Given the description of an element on the screen output the (x, y) to click on. 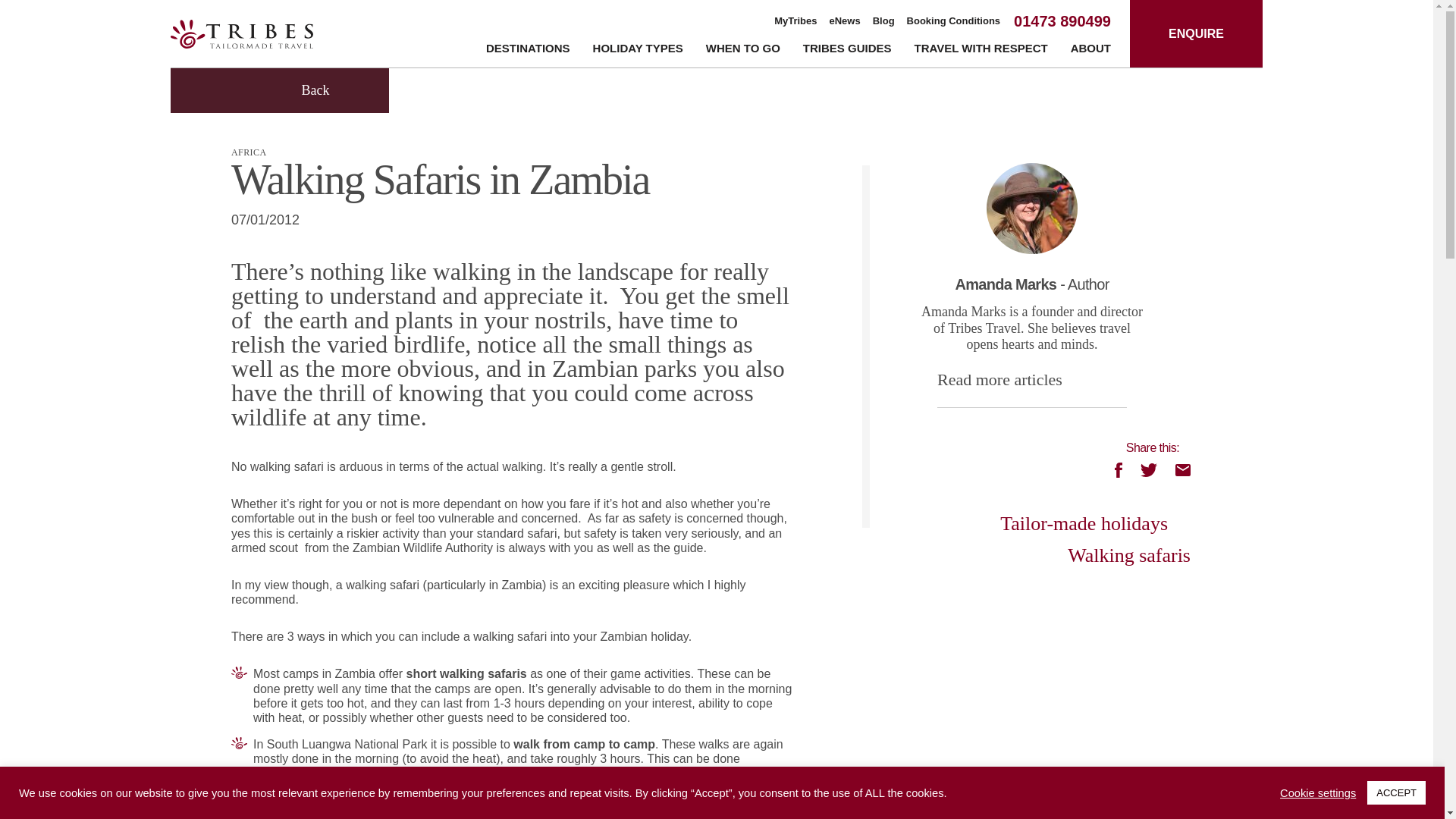
TRIBES GUIDES (847, 50)
Booking Conditions (953, 21)
HOLIDAY TYPES (637, 50)
Destinations (528, 50)
eNews (844, 21)
Tribes (241, 33)
MyTribes (795, 21)
ABOUT (1090, 50)
TRAVEL WITH RESPECT (981, 50)
Blog (883, 21)
DESTINATIONS (528, 50)
Tribes (241, 33)
WHEN TO GO (743, 50)
